Given the description of an element on the screen output the (x, y) to click on. 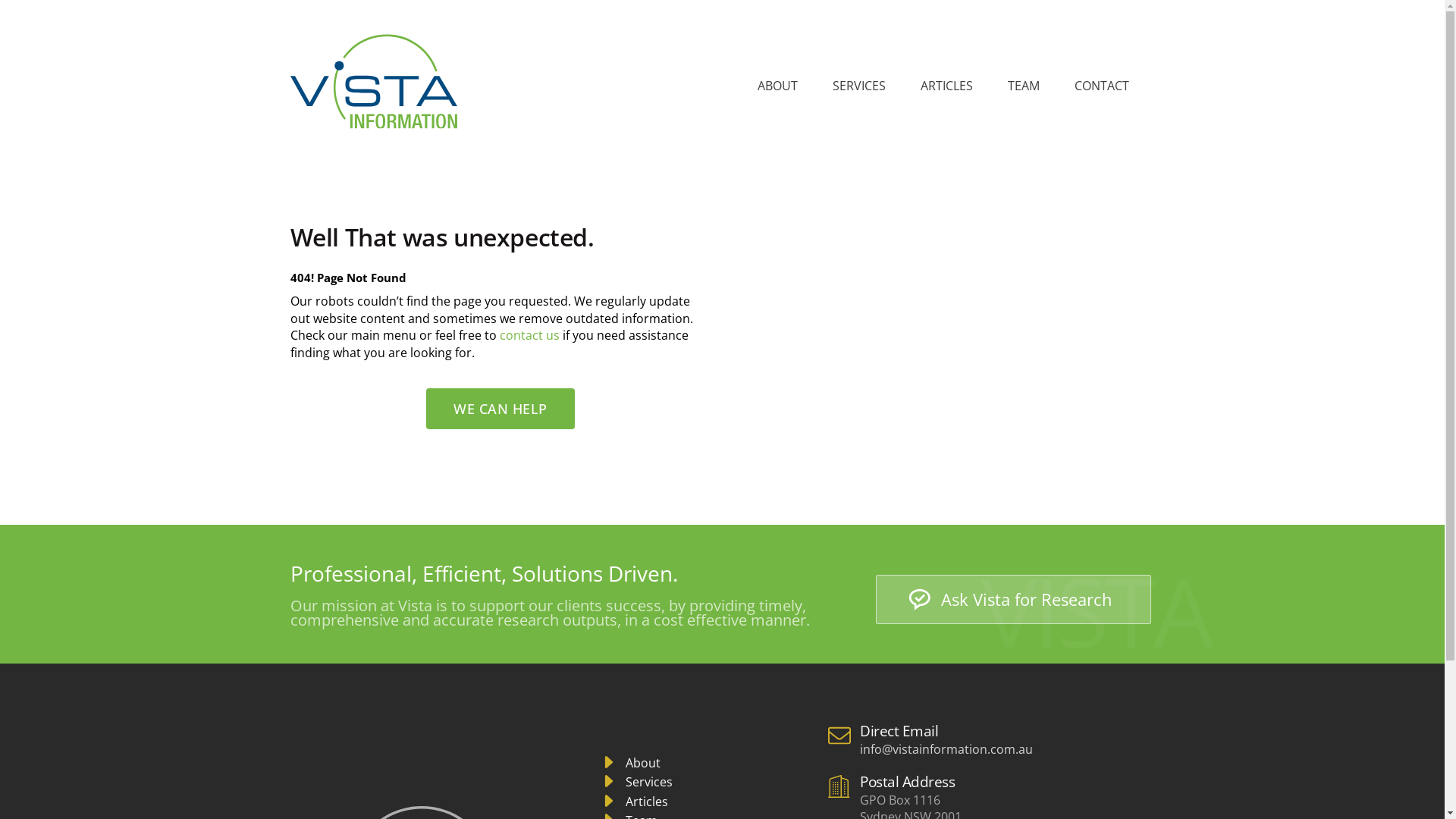
contact us Element type: text (528, 334)
About Element type: text (629, 763)
ARTICLES Element type: text (946, 86)
Articles Element type: text (633, 802)
Services Element type: text (635, 782)
ABOUT Element type: text (776, 86)
SERVICES Element type: text (858, 86)
TEAM Element type: text (1022, 86)
info@vistainformation.com.au Element type: text (945, 748)
CONTACT Element type: text (1100, 86)
WE CAN HELP Element type: text (500, 408)
Ask Vista for Research Element type: text (1012, 599)
